Given the description of an element on the screen output the (x, y) to click on. 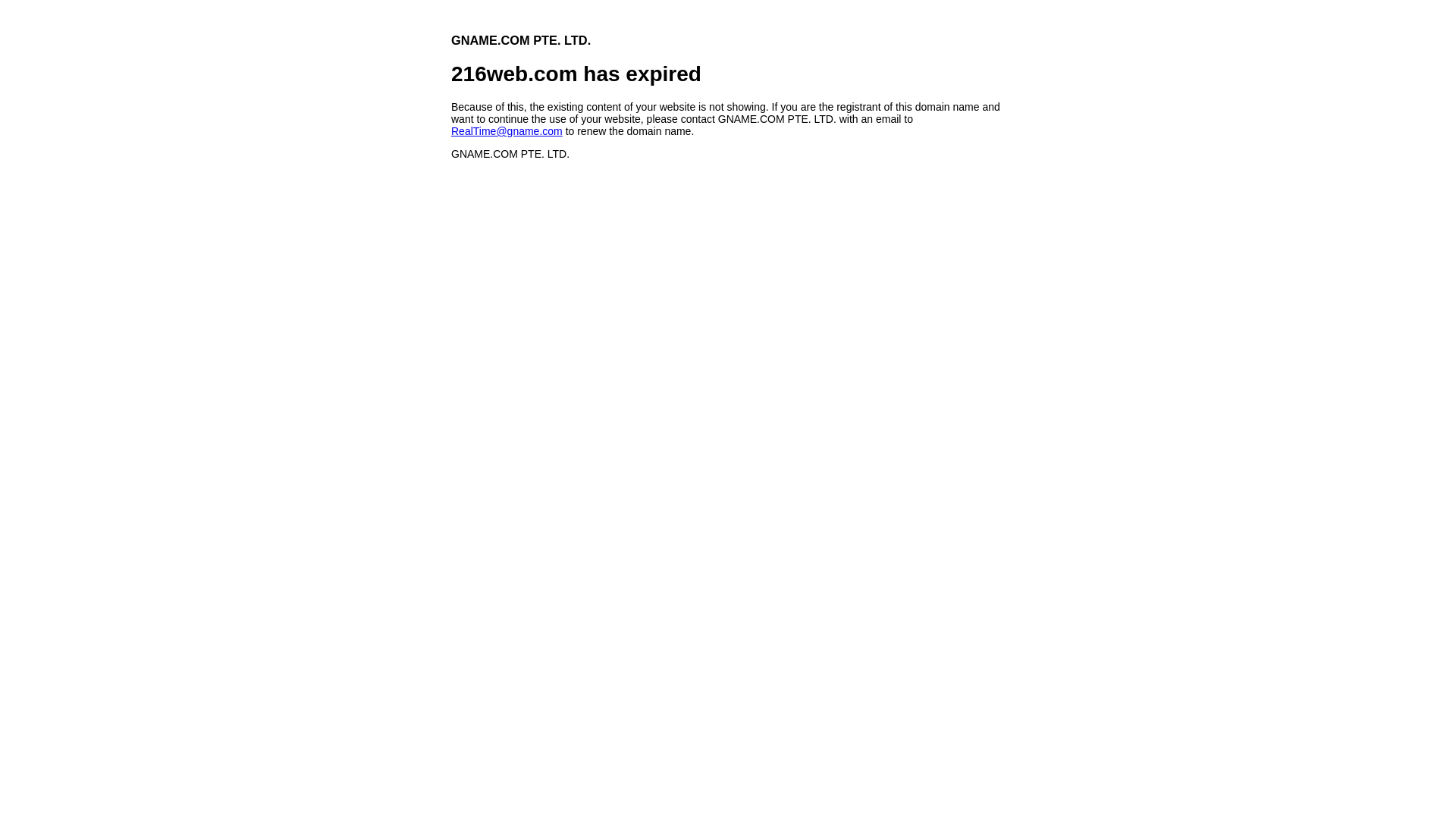
RealTime@gname.com Element type: text (506, 131)
